Given the description of an element on the screen output the (x, y) to click on. 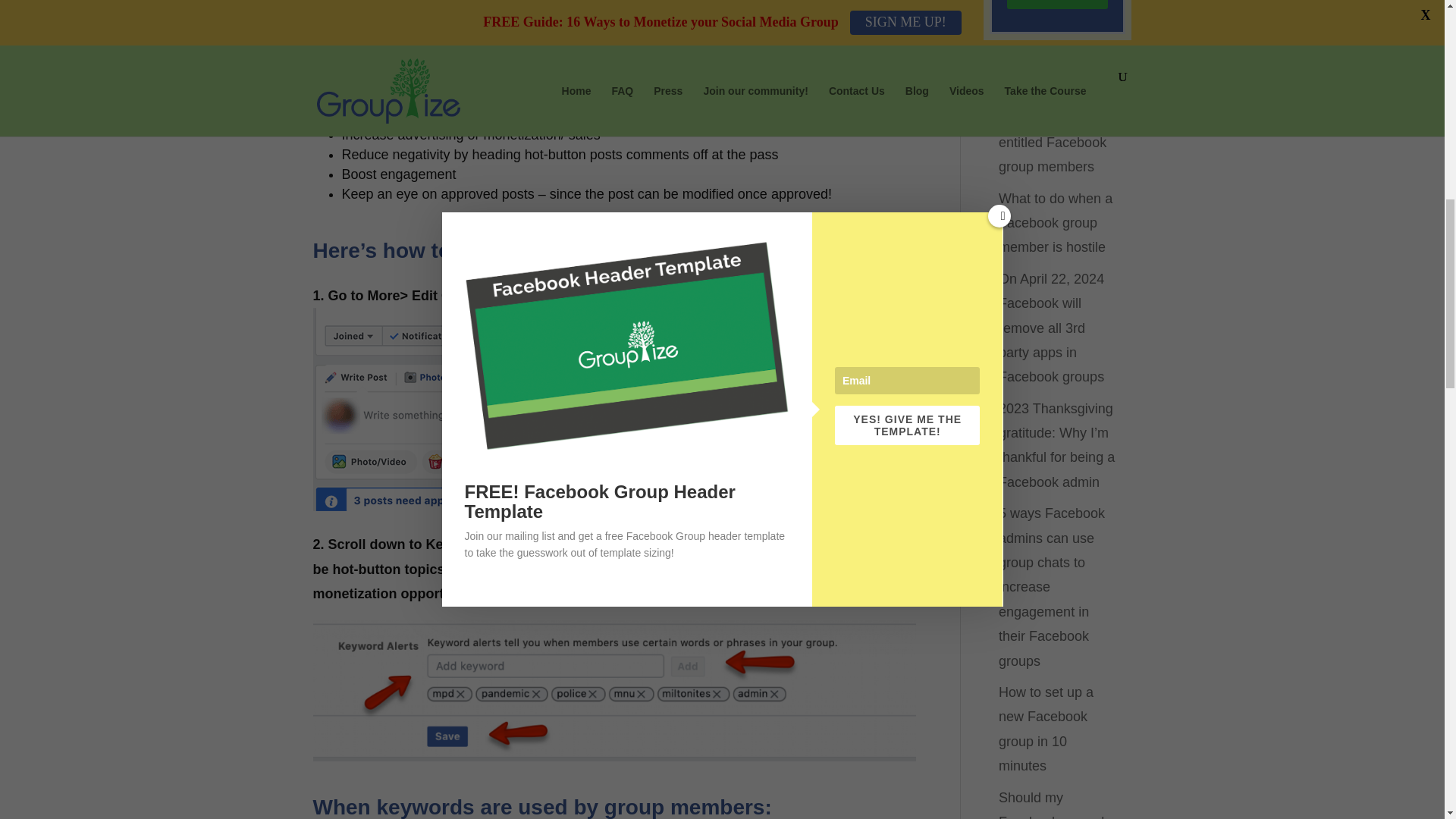
How to set up a new Facebook group in 10 minutes (1045, 728)
What to do when a Facebook group member is hostile (1055, 222)
What to do about entitled Facebook group members (1052, 141)
SUBSCRIBE! (1057, 4)
Should my Facebook group be public or private? (1057, 804)
